Given the description of an element on the screen output the (x, y) to click on. 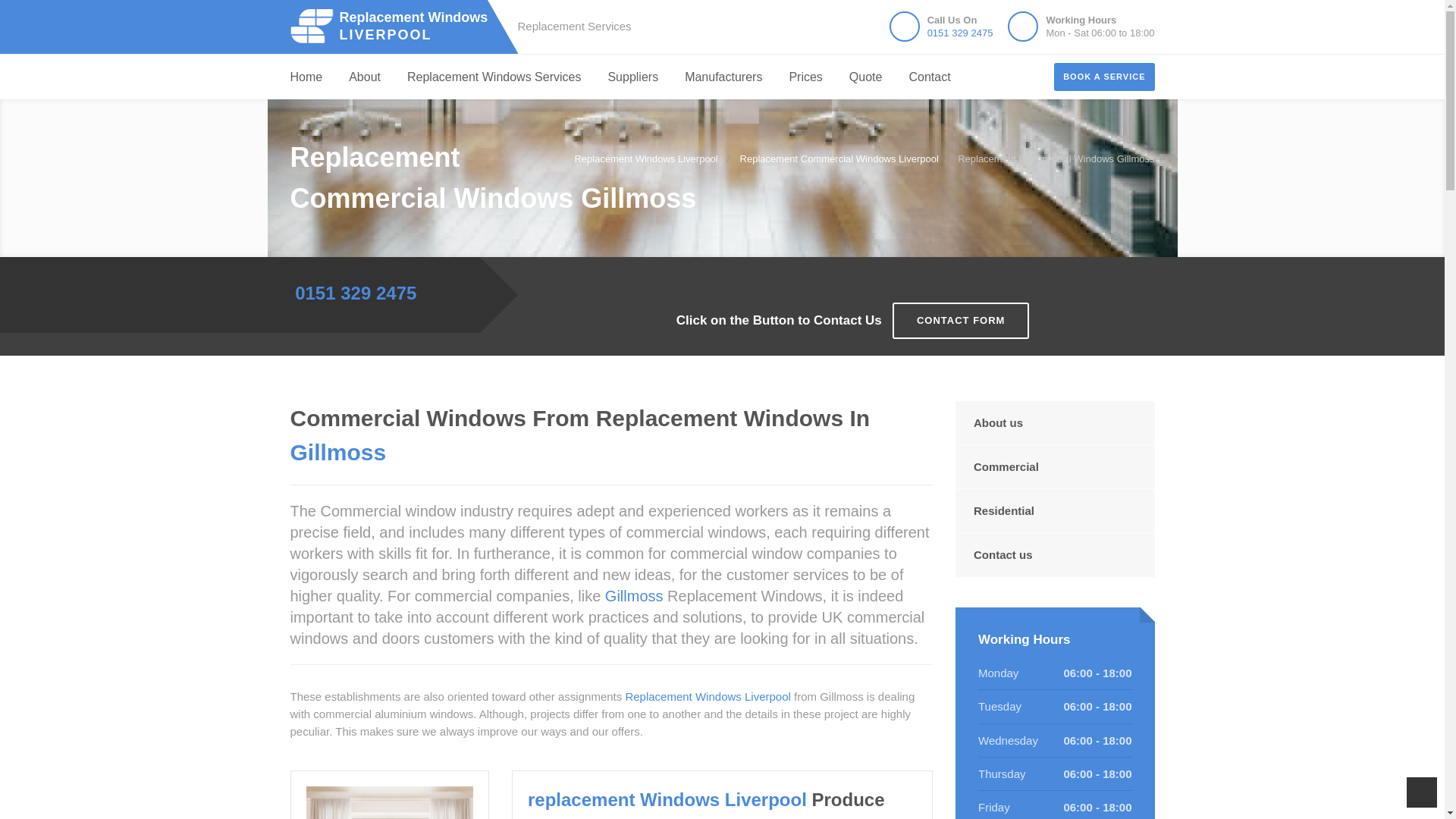
Replacement Windows Services (395, 26)
Manufacturers (493, 76)
Suppliers (722, 76)
Replacement Windows Liverpool (632, 76)
BOOK A SERVICE (395, 26)
Replacement Commercial Windows Liverpool (1104, 76)
0151 329 2475 (839, 158)
0151 329 2475 (355, 291)
Contact (959, 32)
